Given the description of an element on the screen output the (x, y) to click on. 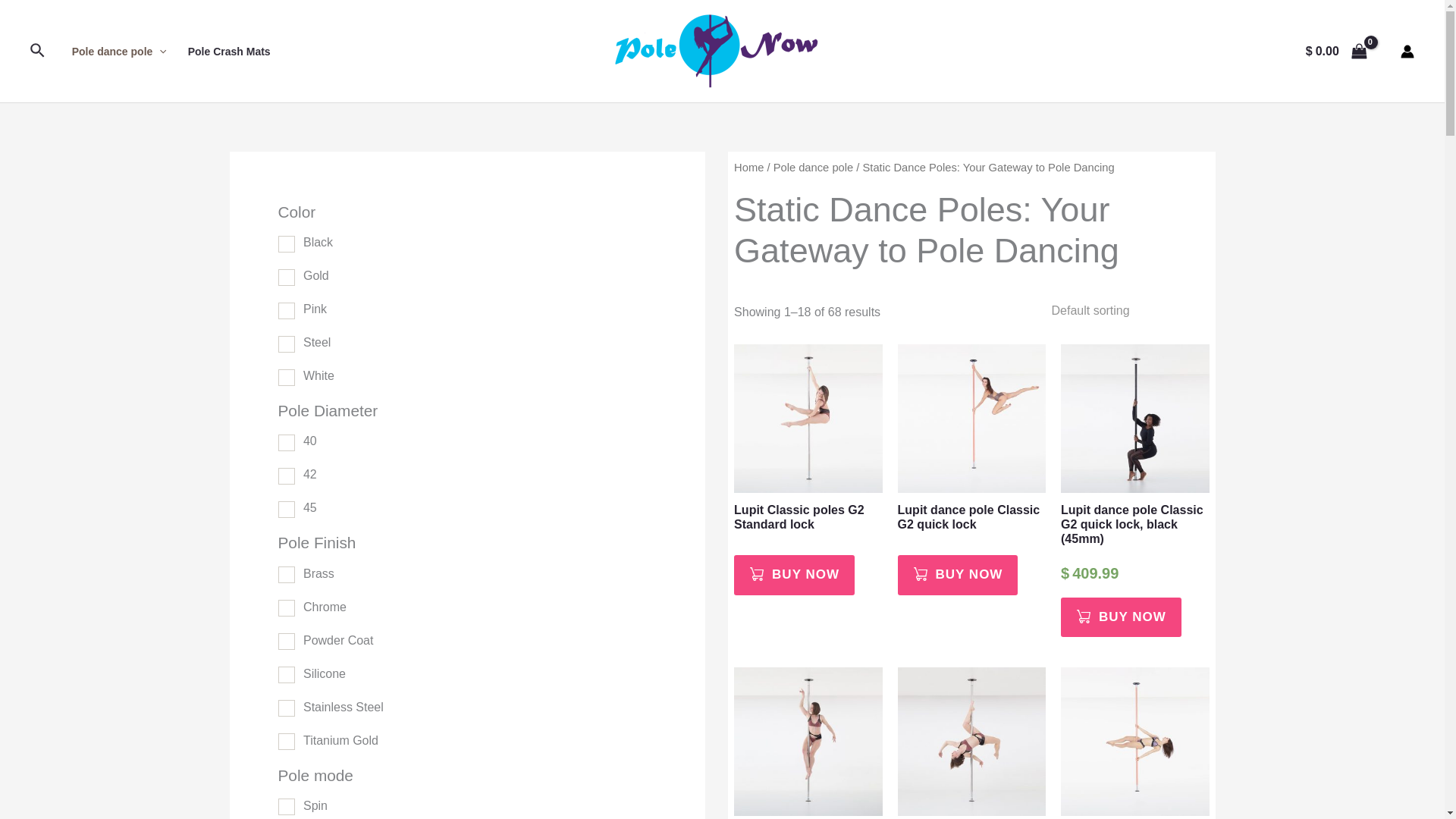
Pole Crash Mats (229, 51)
Pole dance pole (119, 51)
